Given the description of an element on the screen output the (x, y) to click on. 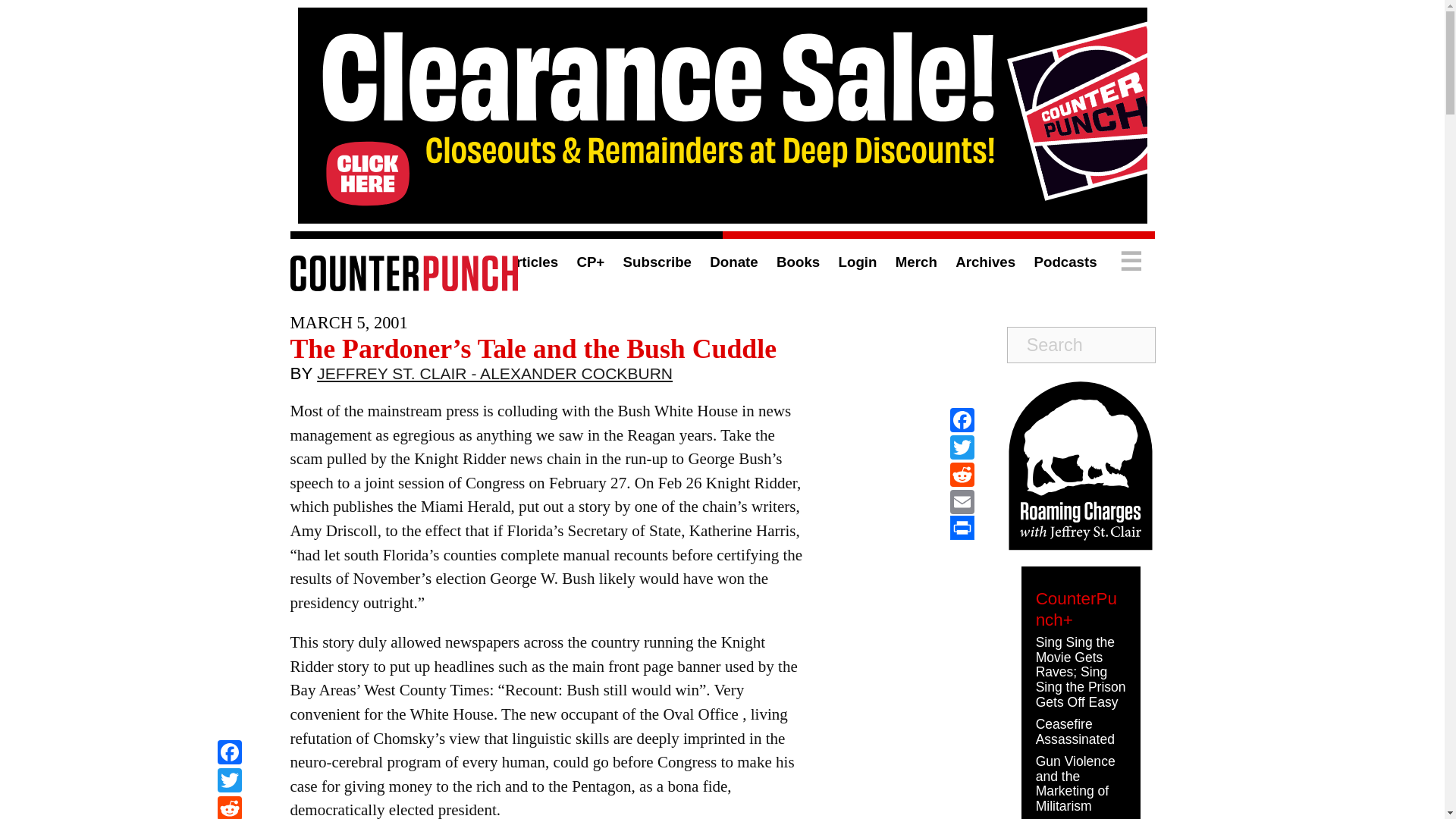
Reddit (962, 474)
Twitter (229, 782)
Ceasefire Assassinated (1075, 731)
Books (797, 261)
Articles (531, 261)
Gun Violence and the Marketing of Militarism (1075, 783)
2001-03-05 (348, 322)
Facebook (229, 754)
JEFFREY ST. CLAIR - ALEXANDER COCKBURN (494, 376)
Login (857, 261)
Facebook (962, 420)
Twitter (229, 782)
Podcasts (1064, 261)
Facebook (229, 754)
Archives (984, 261)
